Given the description of an element on the screen output the (x, y) to click on. 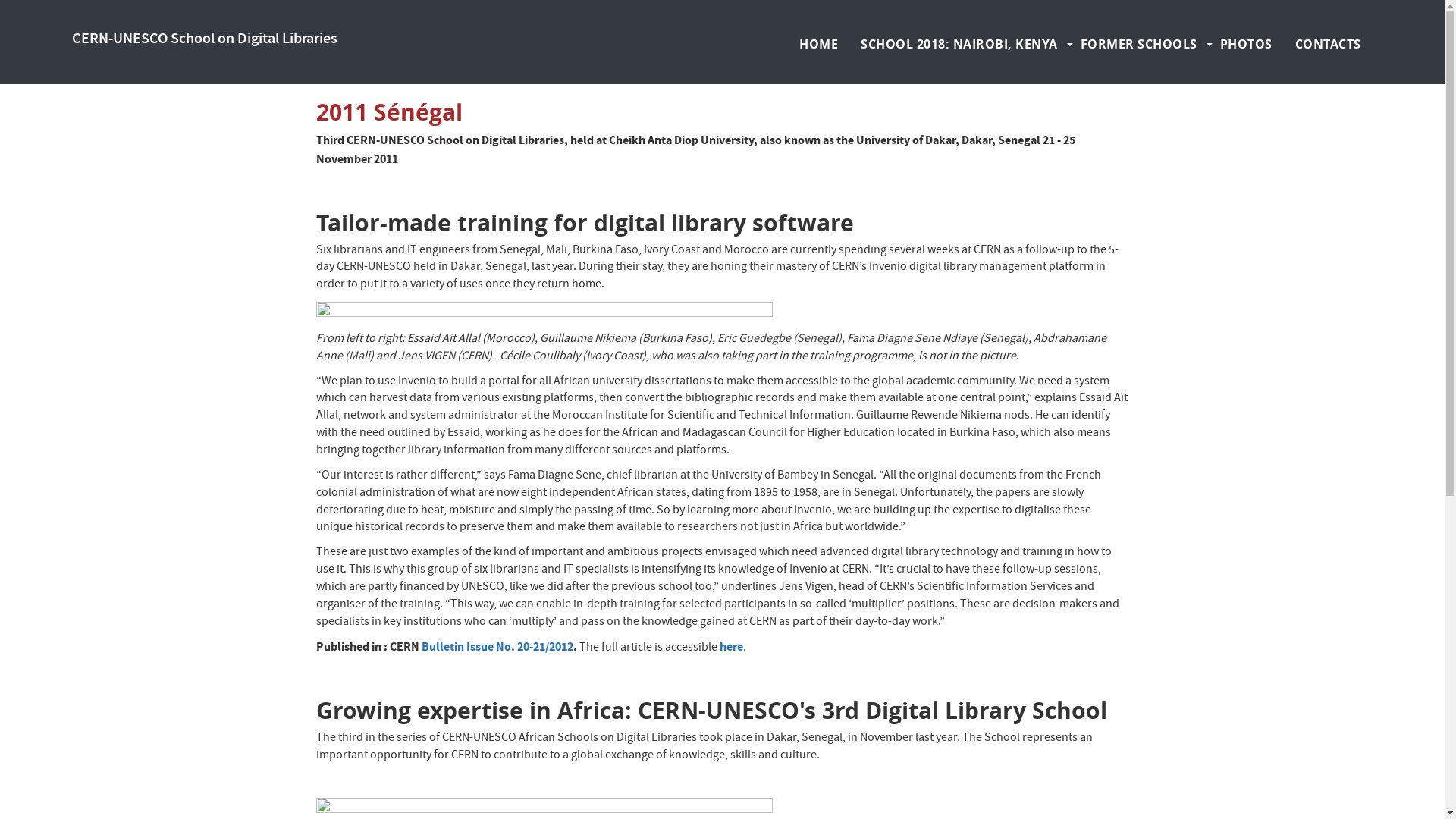
CERN Accelerating science Element type: text (142, 14)
Bulletin Issue No. 20-21/2012 Element type: text (497, 646)
Skip to main content Element type: text (0, 0)
SCHOOL 2018: NAIROBI, KENYA Element type: text (958, 43)
Sign in Element type: text (1301, 14)
Directory Element type: text (1351, 14)
CONTACTS Element type: text (1328, 43)
CERN-UNESCO School on Digital Libraries Element type: text (204, 39)
FORMER SCHOOLS Element type: text (1138, 43)
PHOTOS Element type: text (1246, 43)
here Element type: text (731, 646)
HOME Element type: text (818, 43)
